Given the description of an element on the screen output the (x, y) to click on. 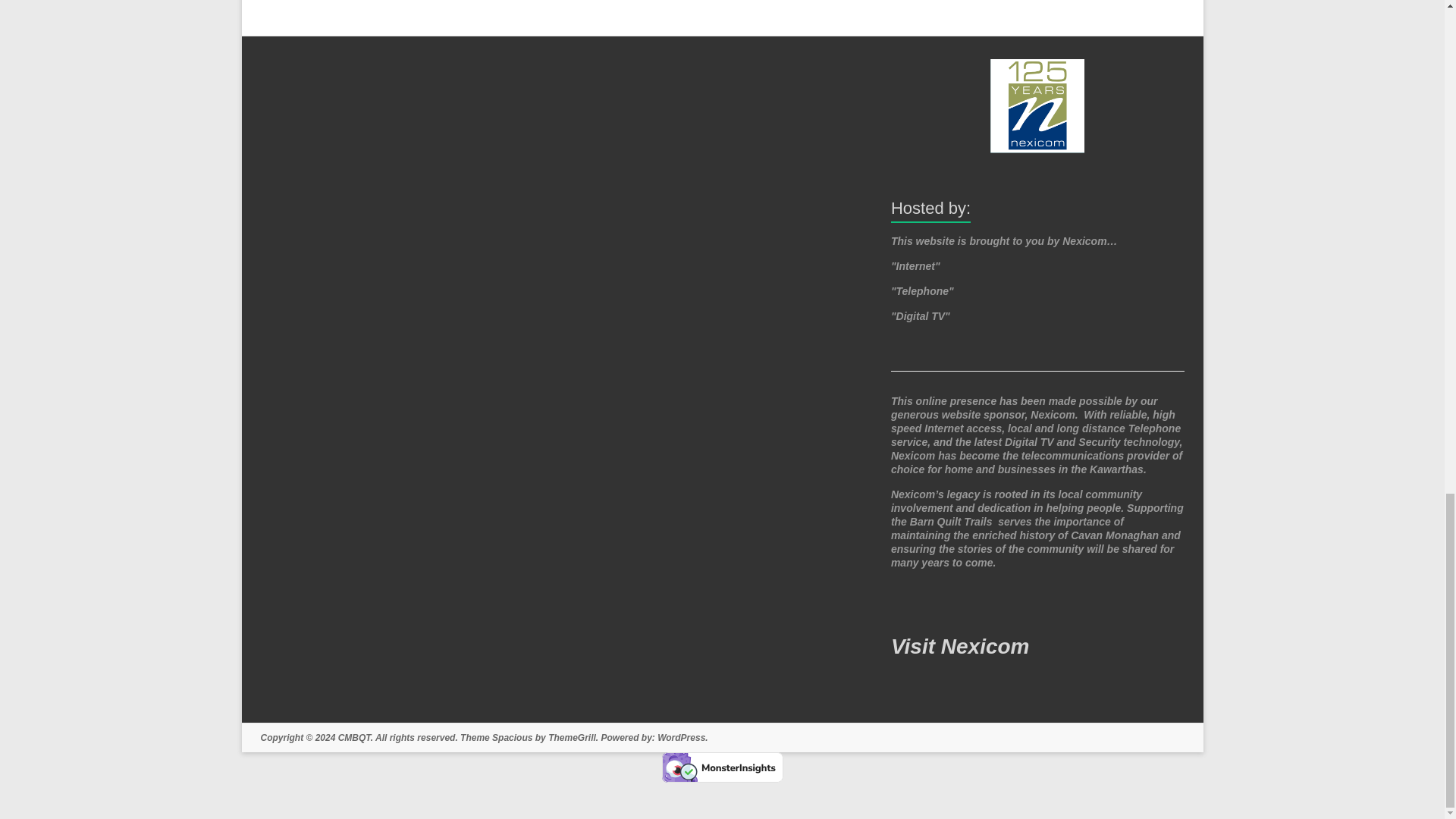
CMBQT (354, 737)
Spacious (512, 737)
WordPress (681, 737)
Verified by MonsterInsights (722, 767)
CMBQT (354, 737)
Visit Nexicom (960, 646)
